Given the description of an element on the screen output the (x, y) to click on. 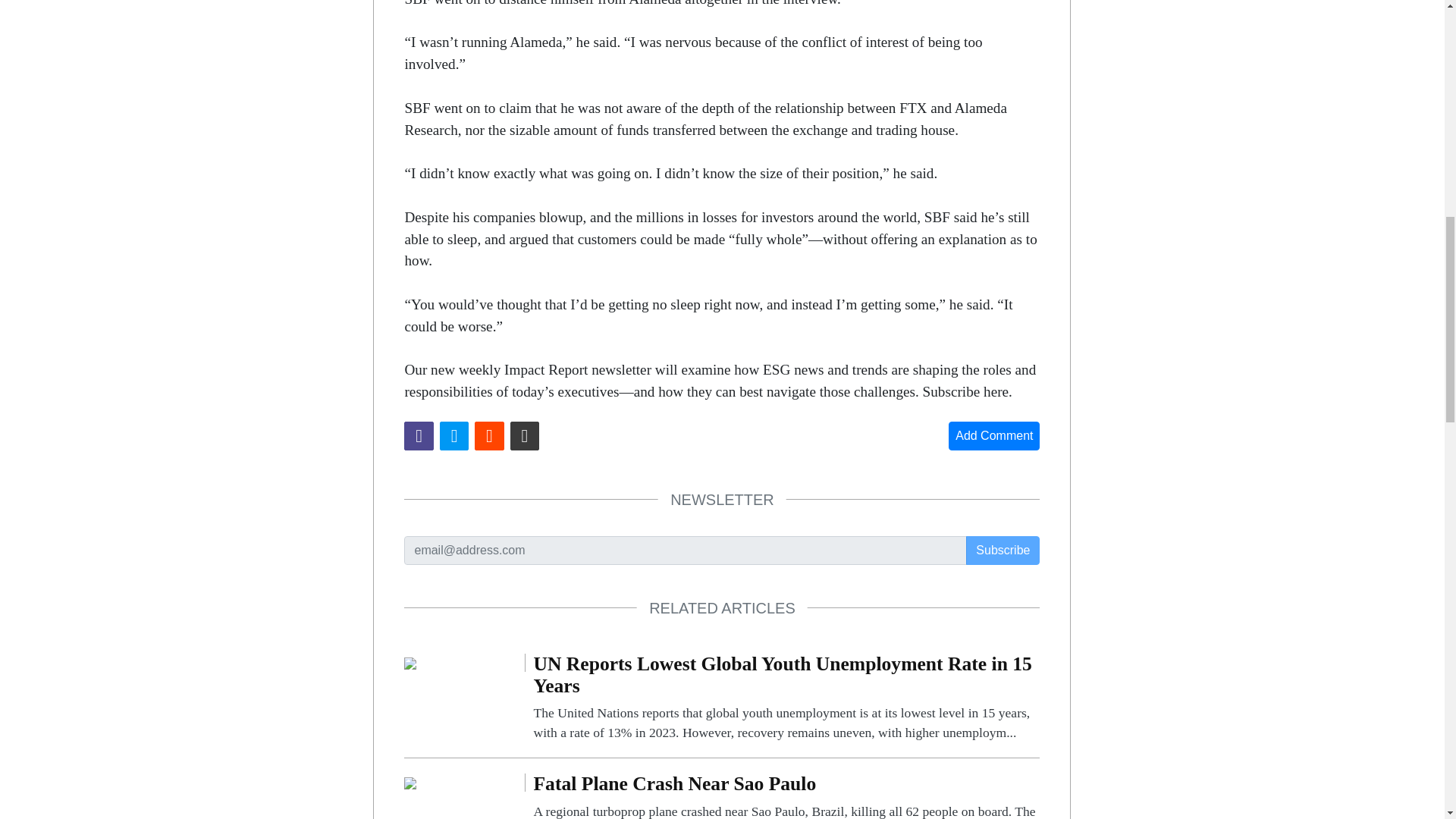
Subscribe (1002, 550)
UN Reports Lowest Global Youth Unemployment Rate in 15 Years (785, 697)
Fatal Plane Crash Near Sao Paulo (410, 781)
UN Reports Lowest Global Youth Unemployment Rate in 15 Years (410, 662)
Add Comment (994, 435)
Fatal Plane Crash Near Sao Paulo (785, 796)
